Given the description of an element on the screen output the (x, y) to click on. 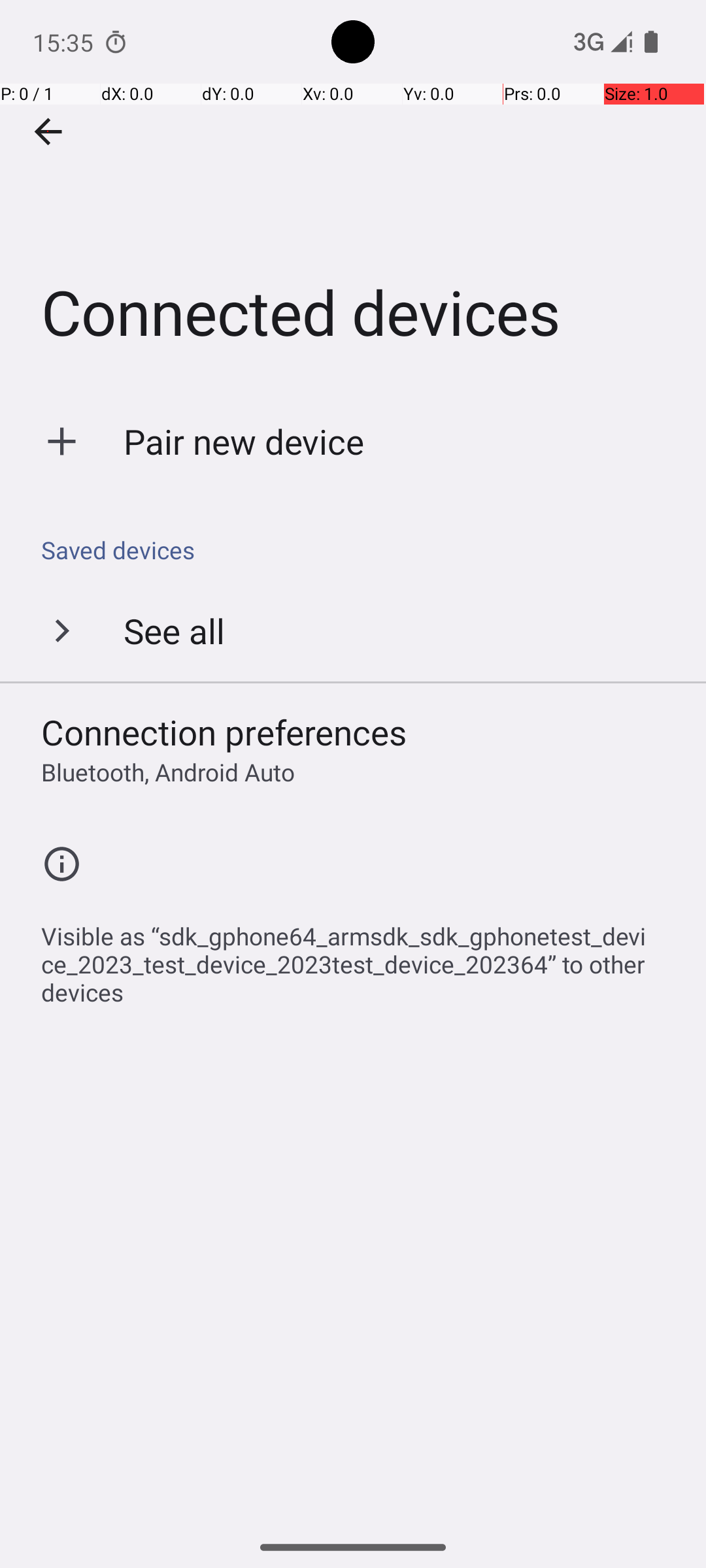
Visible as “sdk_gphone64_armsdk_sdk_gphonetest_device_2023_test_device_2023test_device_202364” to other devices Element type: android.widget.TextView (359, 956)
